Given the description of an element on the screen output the (x, y) to click on. 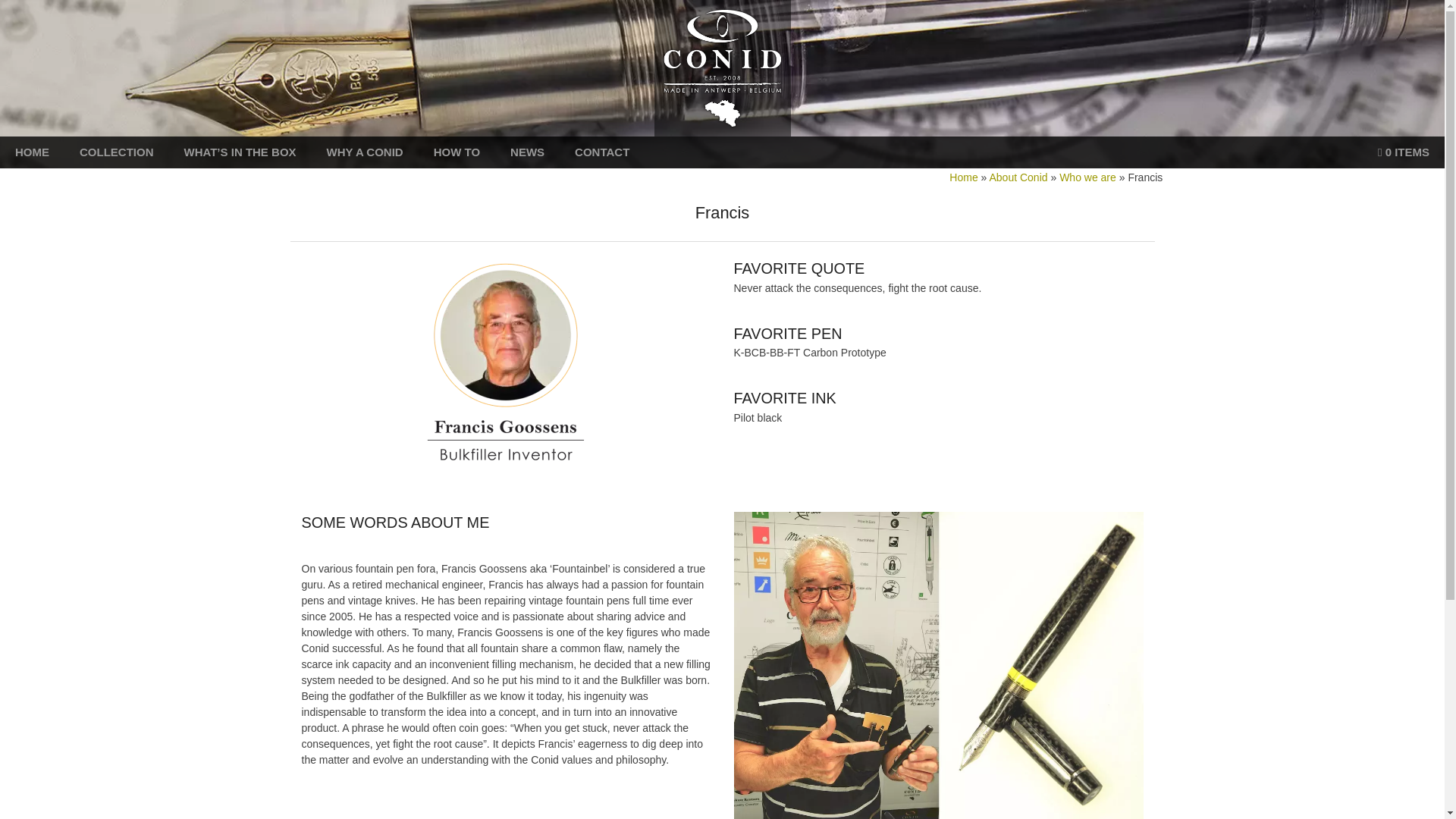
NEWS (527, 152)
Start shopping (1403, 152)
COLLECTION (117, 152)
CONTACT (601, 152)
0 ITEMS (1403, 152)
Who we are (1087, 177)
HOW TO (456, 152)
About Conid (1017, 177)
HOME (31, 152)
Home (962, 177)
